Given the description of an element on the screen output the (x, y) to click on. 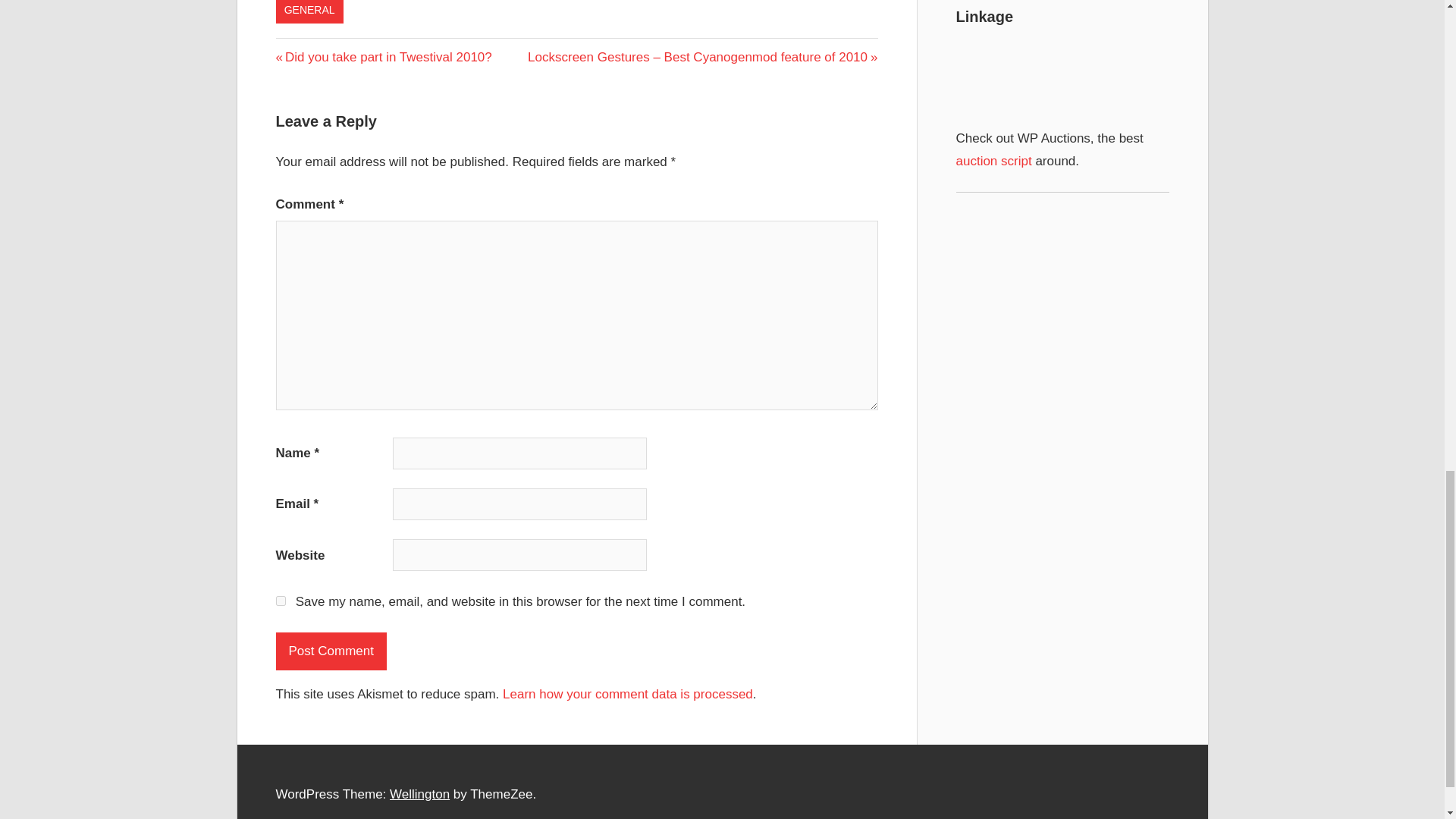
Learn how your comment data is processed (627, 694)
yes (280, 601)
auction script (992, 160)
Wellington WordPress Theme (419, 794)
Post Comment (331, 651)
Post Comment (331, 651)
GENERAL (309, 11)
Wellington (419, 794)
